Given the description of an element on the screen output the (x, y) to click on. 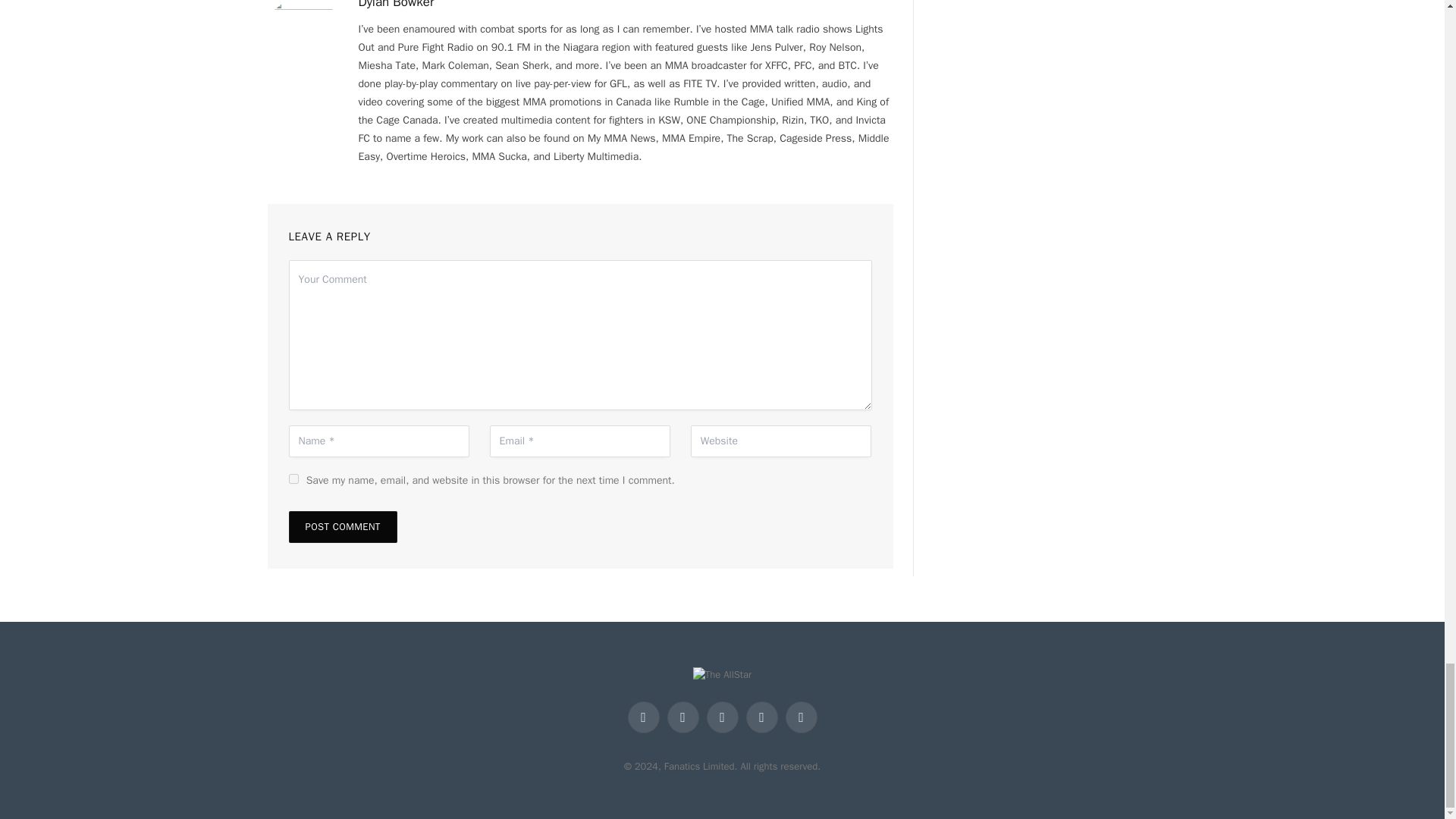
Post Comment (342, 526)
yes (293, 479)
